Given the description of an element on the screen output the (x, y) to click on. 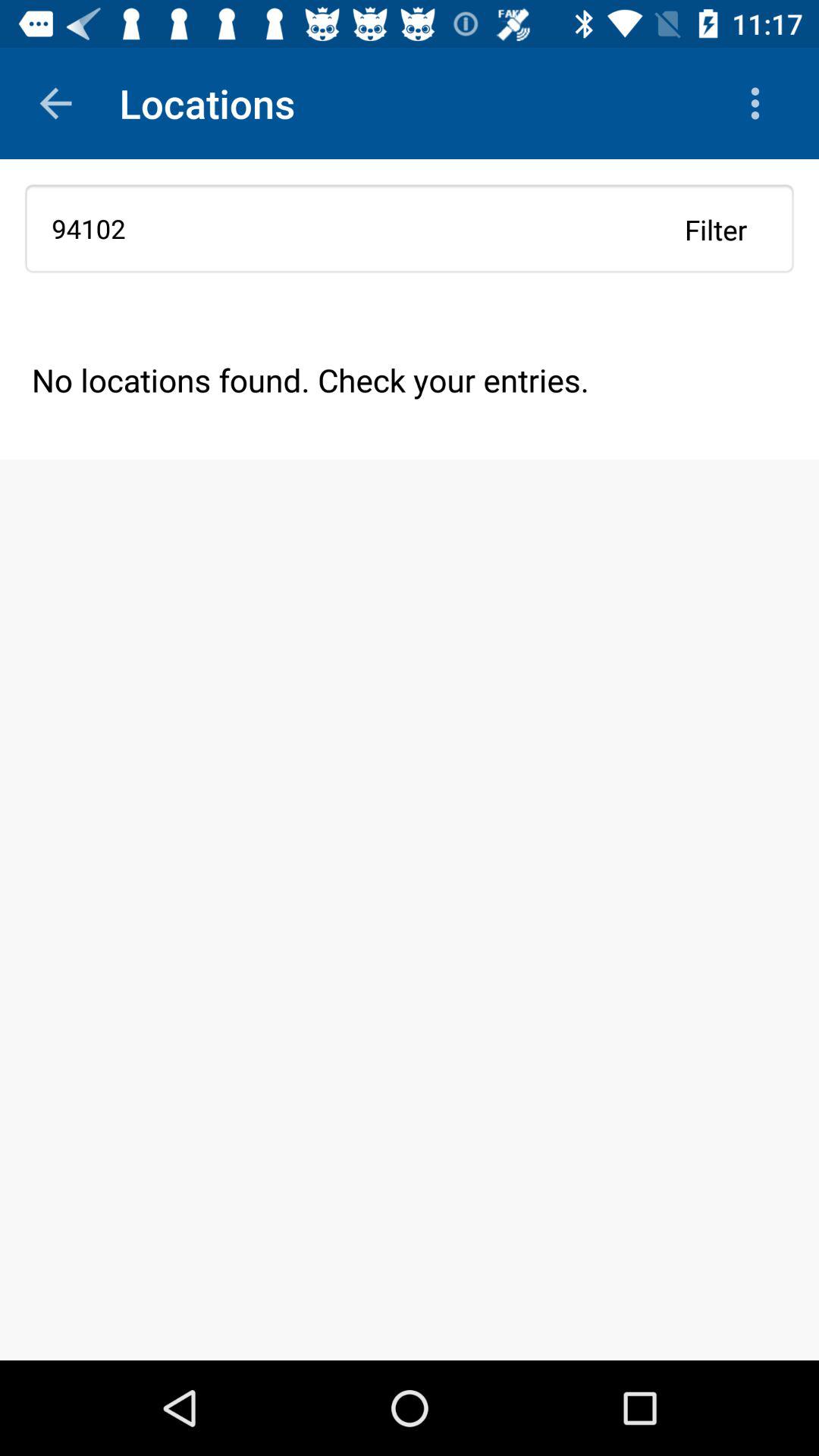
turn off the icon above 94102 (759, 103)
